Given the description of an element on the screen output the (x, y) to click on. 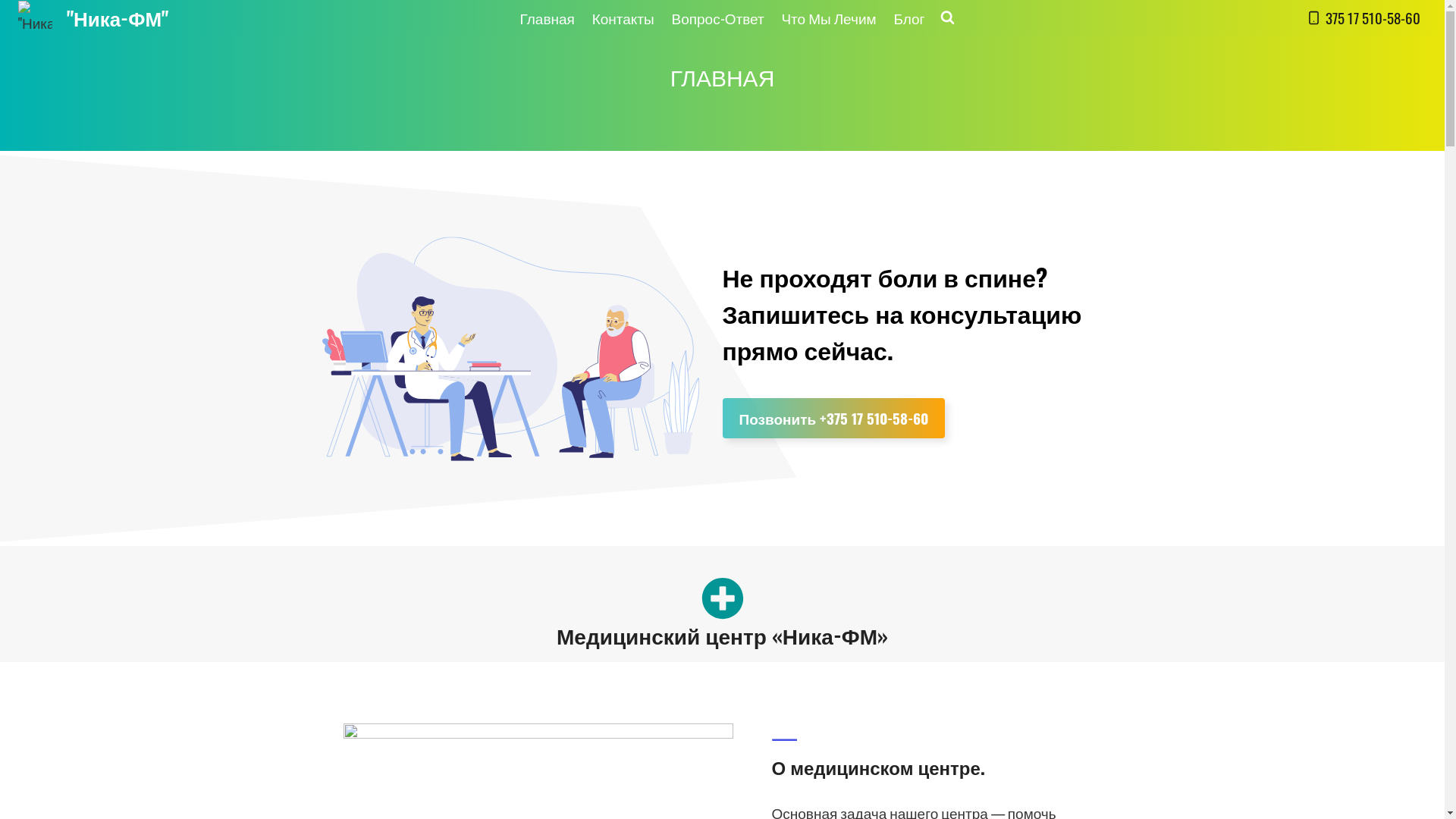
375 17 510-58-60 Element type: text (1363, 17)
